Given the description of an element on the screen output the (x, y) to click on. 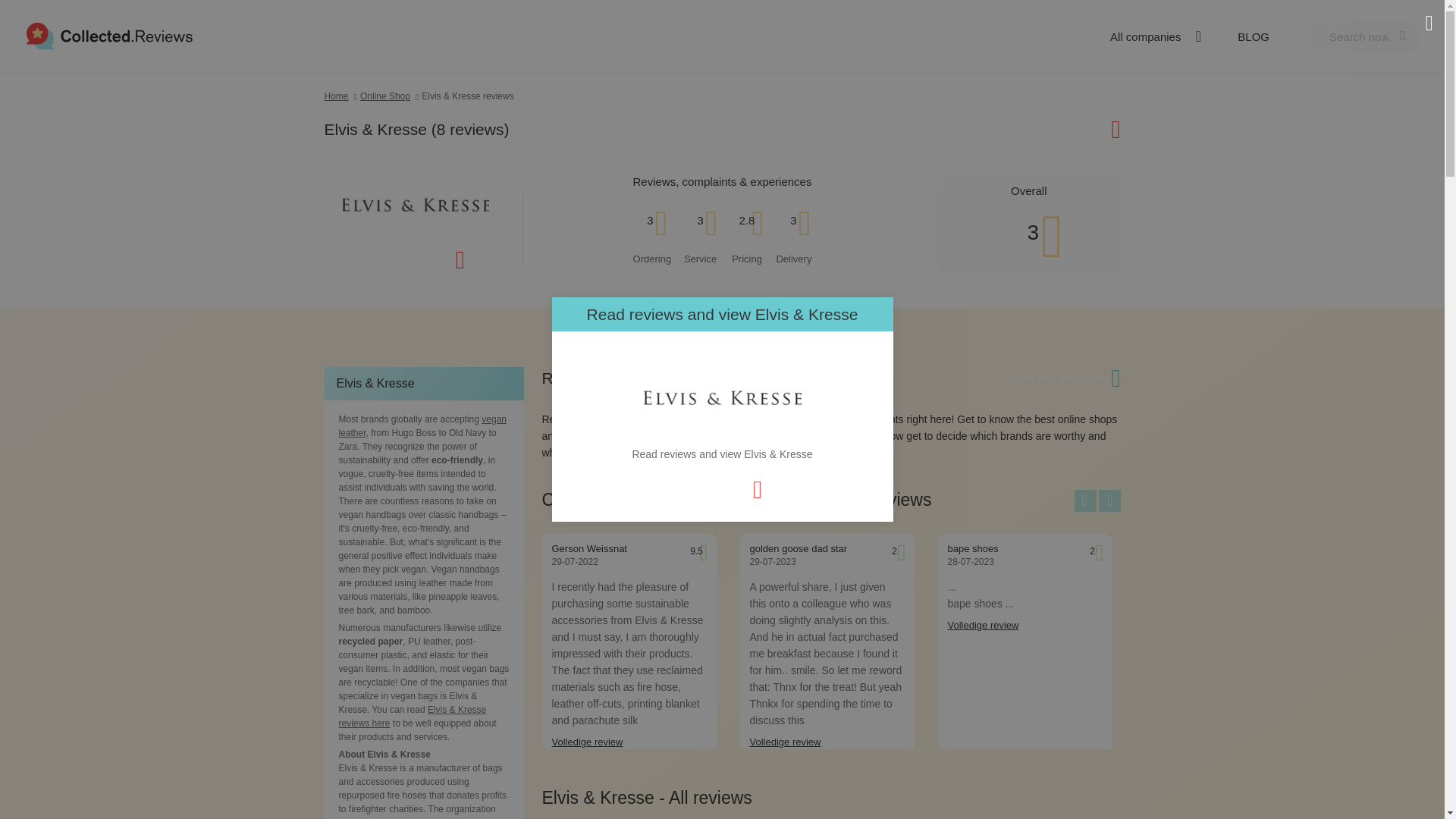
Home (341, 95)
Write your own review (1059, 377)
Go to the site (422, 259)
Go to the site (1077, 129)
All companies (1152, 36)
Collected.Reviews (108, 36)
vegan leather (421, 426)
BLOG (1253, 36)
Online Shop (390, 95)
